Given the description of an element on the screen output the (x, y) to click on. 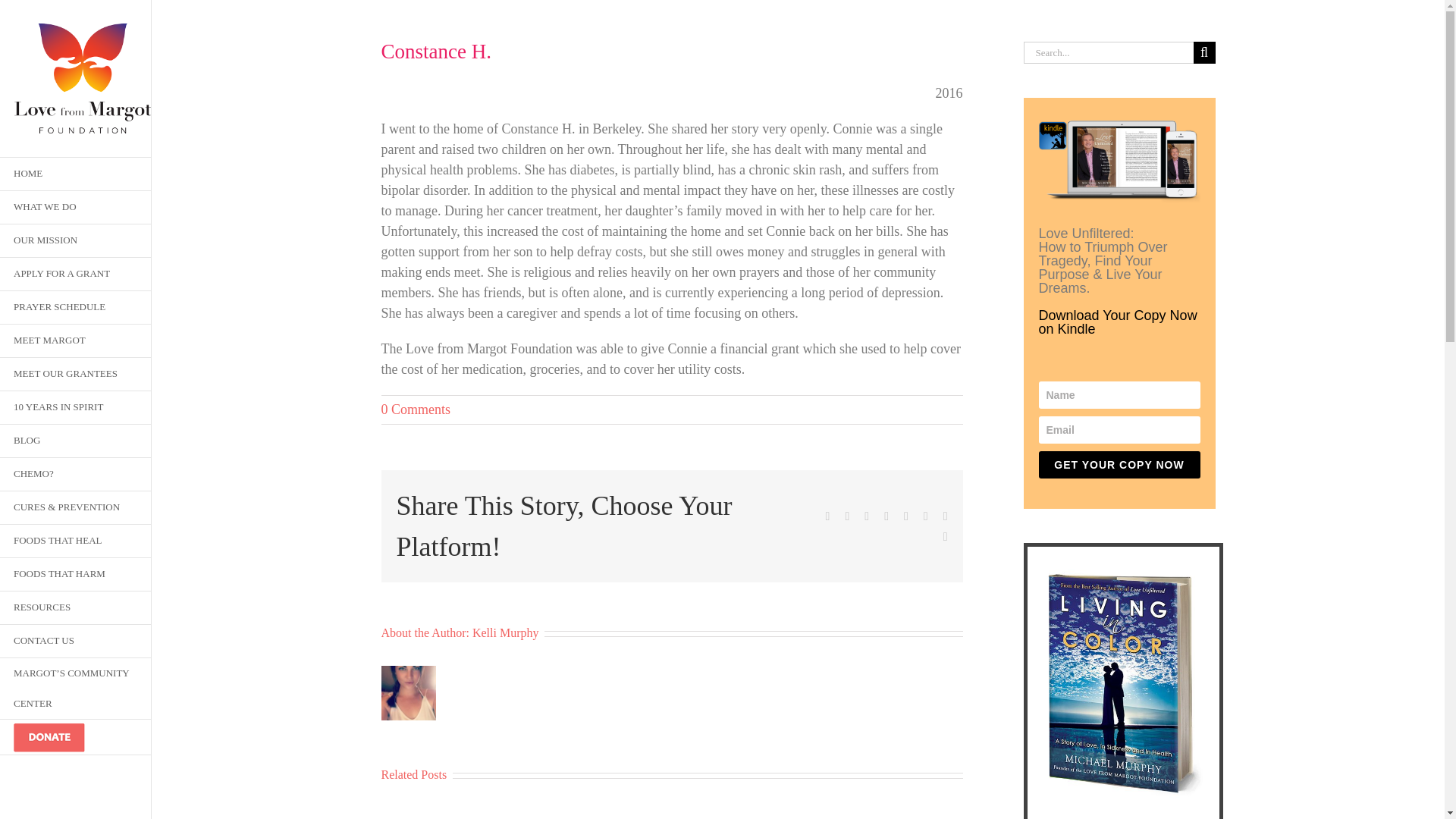
PRAYER SCHEDULE (75, 307)
OUR MISSION (75, 240)
CONTACT US (75, 641)
FOODS THAT HARM (75, 574)
MEET MARGOT (75, 340)
HOME (75, 173)
CHEMO? (75, 474)
FOODS THAT HEAL (75, 540)
RESOURCES (75, 607)
10 YEARS IN SPIRIT (75, 408)
